Given the description of an element on the screen output the (x, y) to click on. 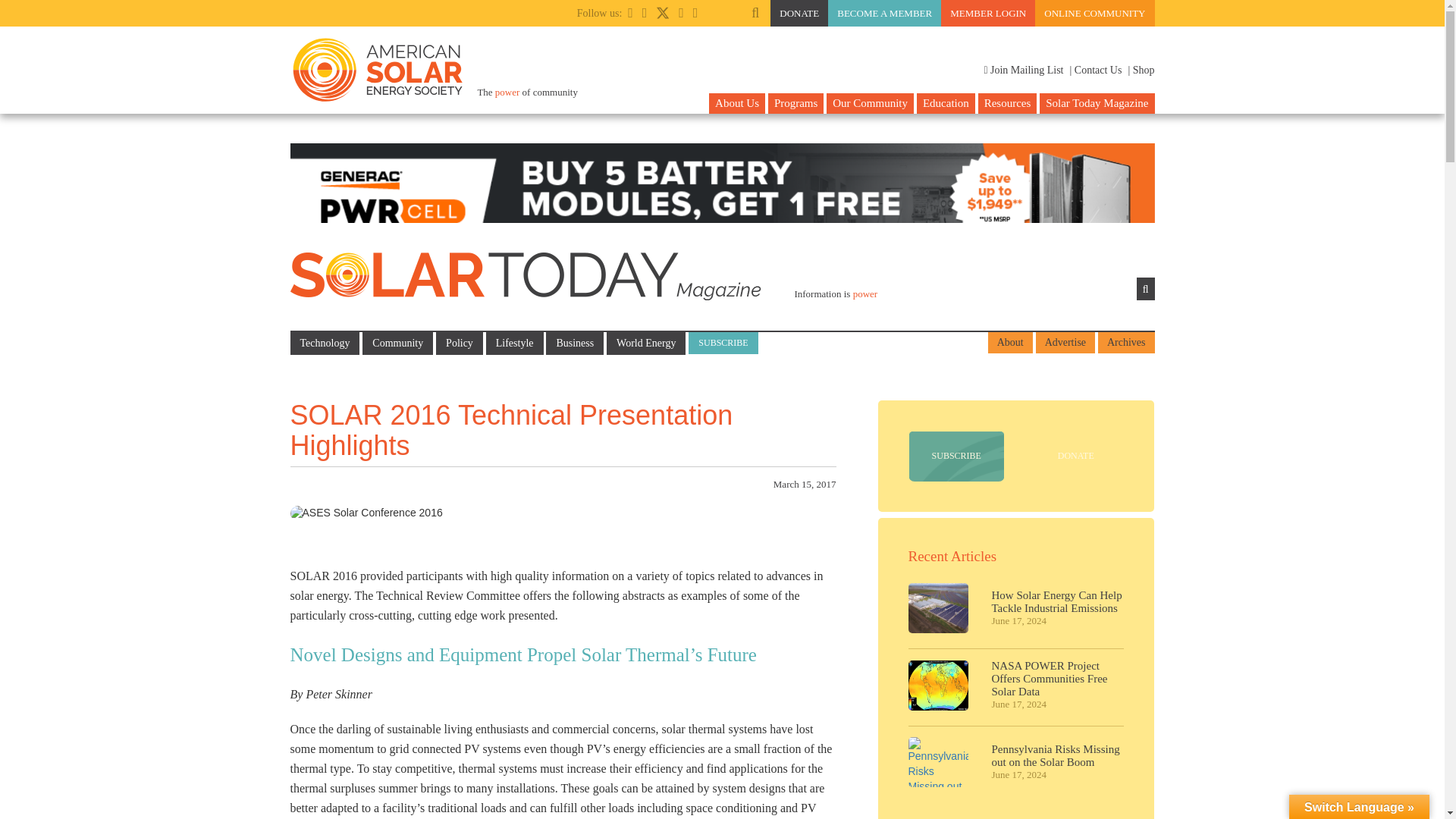
BECOME A MEMBER (884, 13)
MEMBER LOGIN (987, 13)
DONATE (799, 13)
Join Mailing List (1023, 70)
Our Community (870, 103)
Programs (796, 103)
About Us (737, 103)
ONLINE COMMUNITY (1094, 13)
